Given the description of an element on the screen output the (x, y) to click on. 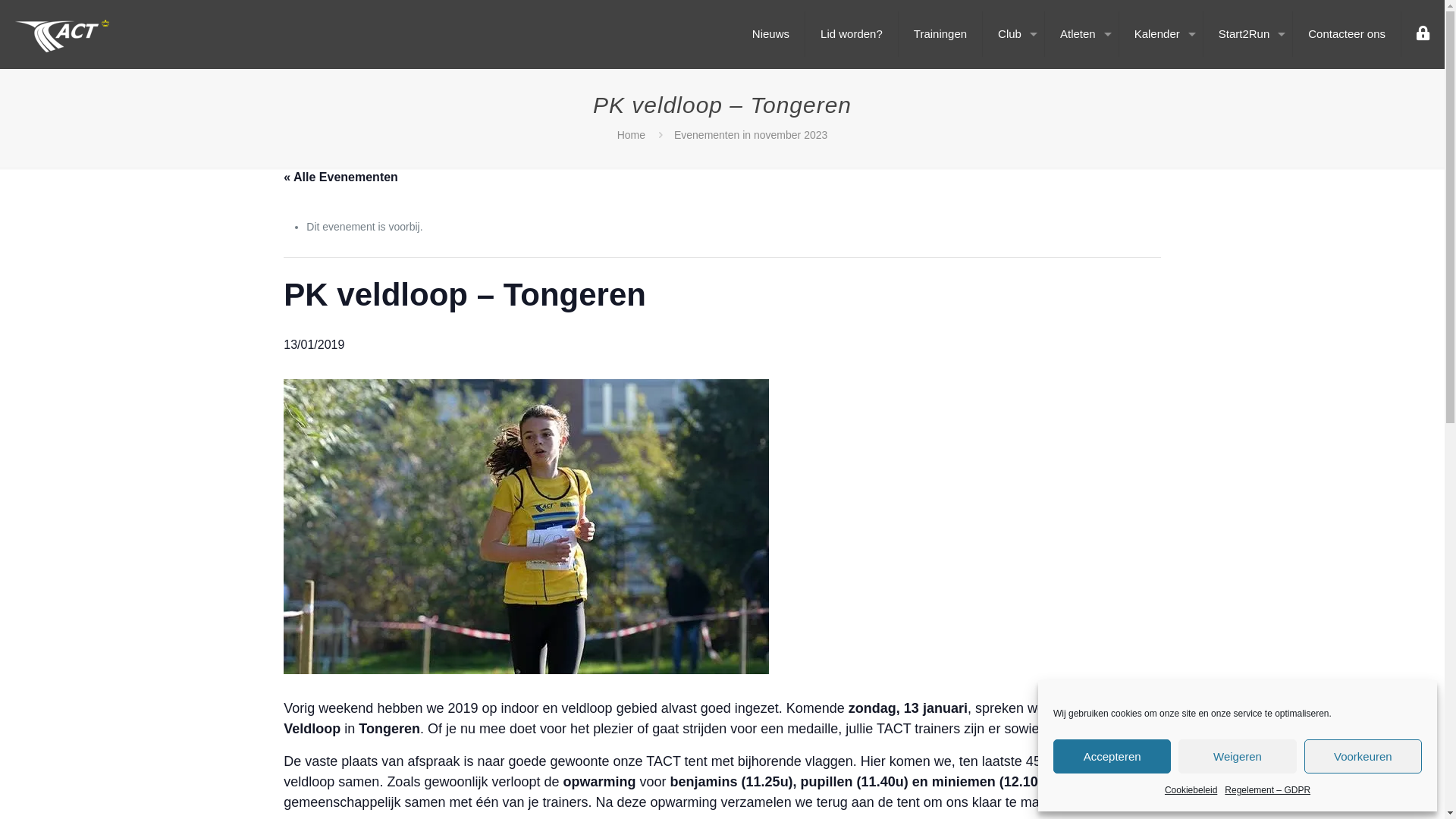
Trainingen Element type: text (940, 34)
Kalender Element type: text (1161, 34)
Weigeren Element type: text (1236, 756)
Cookiebeleid Element type: text (1190, 790)
Start2Run Element type: text (1248, 34)
Contacteer ons Element type: text (1346, 34)
Voorkeuren Element type: text (1362, 756)
Accepteren Element type: text (1111, 756)
Nieuws Element type: text (771, 34)
Atletiekclub TACT Element type: hover (62, 34)
Atleten Element type: text (1081, 34)
Lid worden? Element type: text (851, 34)
Club Element type: text (1013, 34)
Home Element type: text (631, 134)
